Given the description of an element on the screen output the (x, y) to click on. 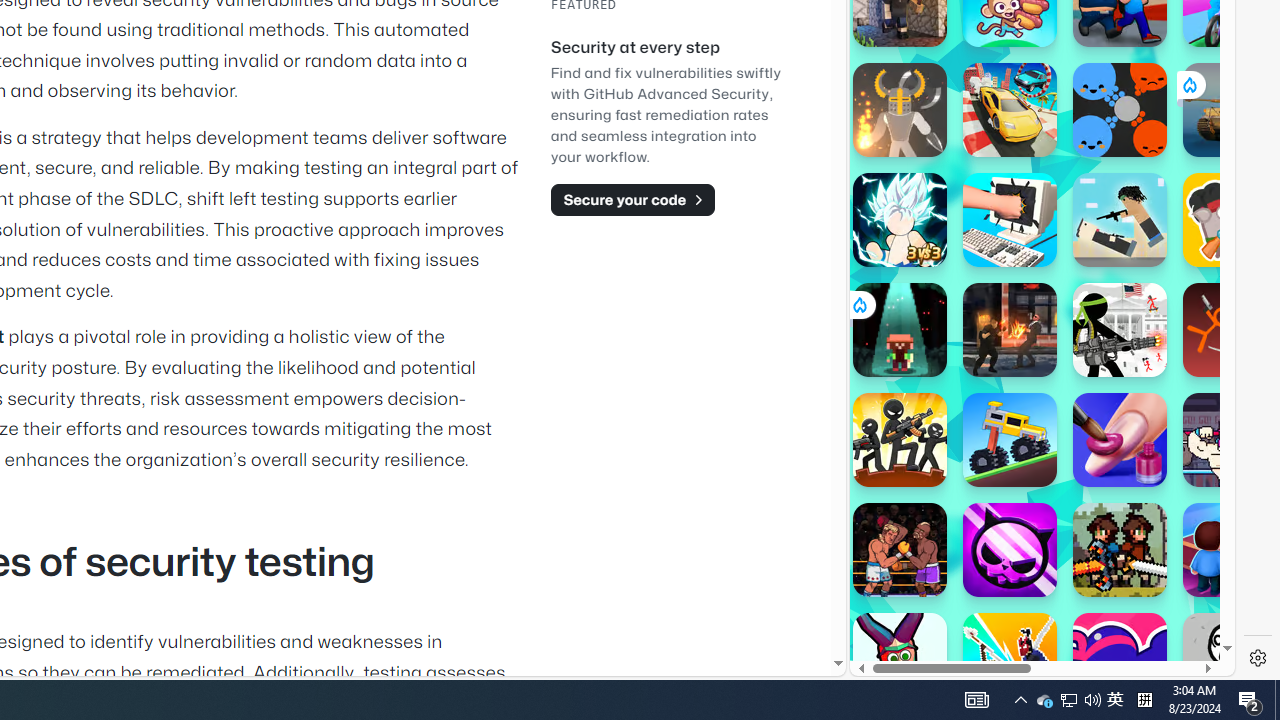
Combat Reloaded (1092, 300)
Stickman Army: The Defenders (1119, 329)
Click to scroll right (1196, 247)
MicroWars MicroWars (1119, 109)
Funny Shooter 2 (899, 659)
MicroWars (1119, 109)
Last Warriors (1009, 659)
Stickman Army: The Defenders Stickman Army: The Defenders (1119, 329)
Stick Defenders Stick Defenders (899, 439)
Secure your code (632, 199)
Stick Fighter Stick Fighter (1119, 659)
Stickman Fight: Ragdoll (1229, 329)
Drive Mad (1009, 439)
